Given the description of an element on the screen output the (x, y) to click on. 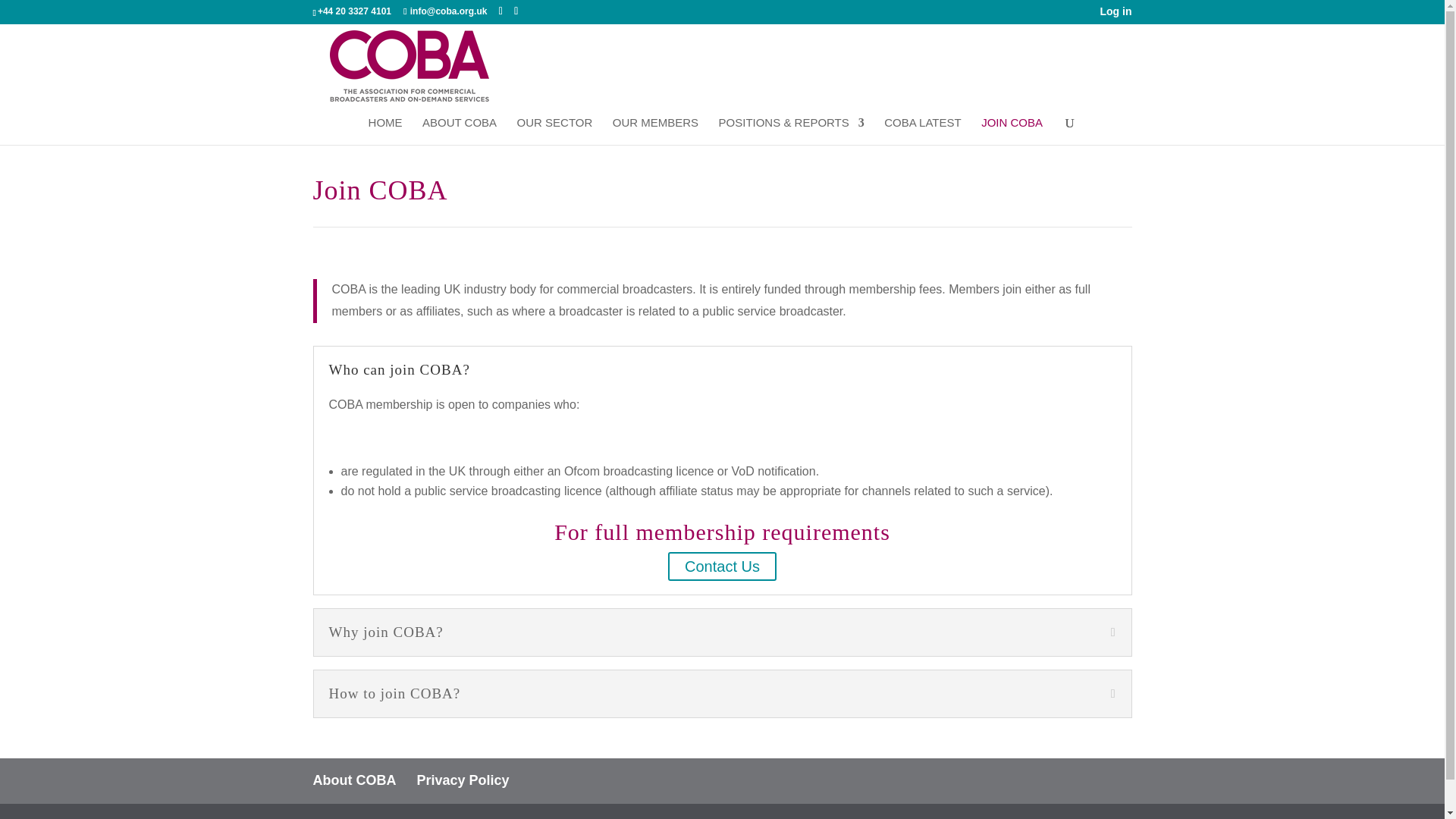
About COBA (354, 780)
COBA LATEST (921, 130)
Log in (1115, 15)
JOIN COBA (1011, 130)
ABOUT COBA (459, 130)
OUR SECTOR (554, 130)
OUR MEMBERS (655, 130)
Privacy Policy (462, 780)
Contact Us (722, 566)
HOME (385, 130)
